Given the description of an element on the screen output the (x, y) to click on. 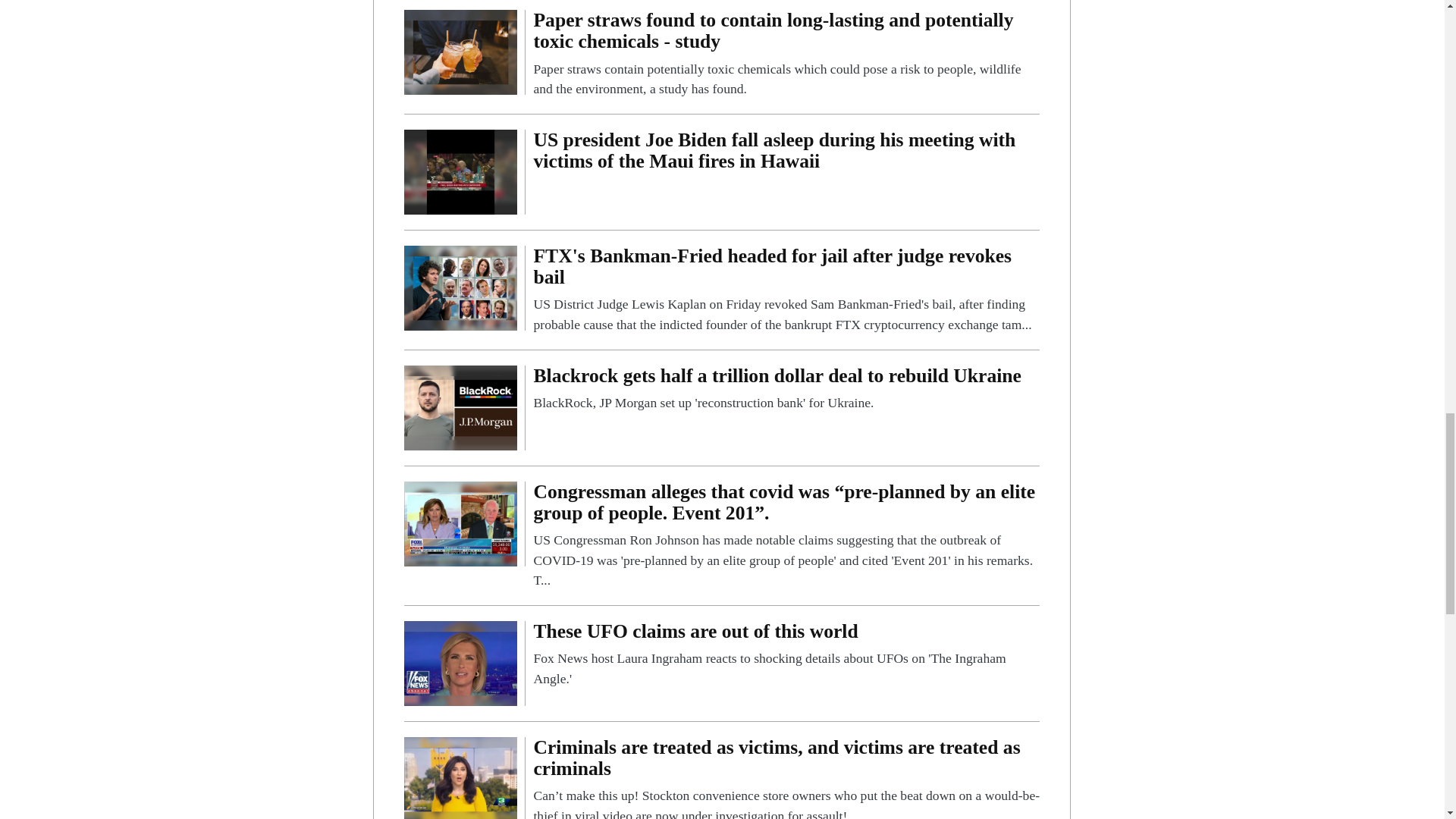
These UFO claims are out of this world (460, 662)
FTX's Bankman-Fried headed for jail after judge revokes bail (785, 289)
FTX's Bankman-Fried headed for jail after judge revokes bail (460, 286)
